Given the description of an element on the screen output the (x, y) to click on. 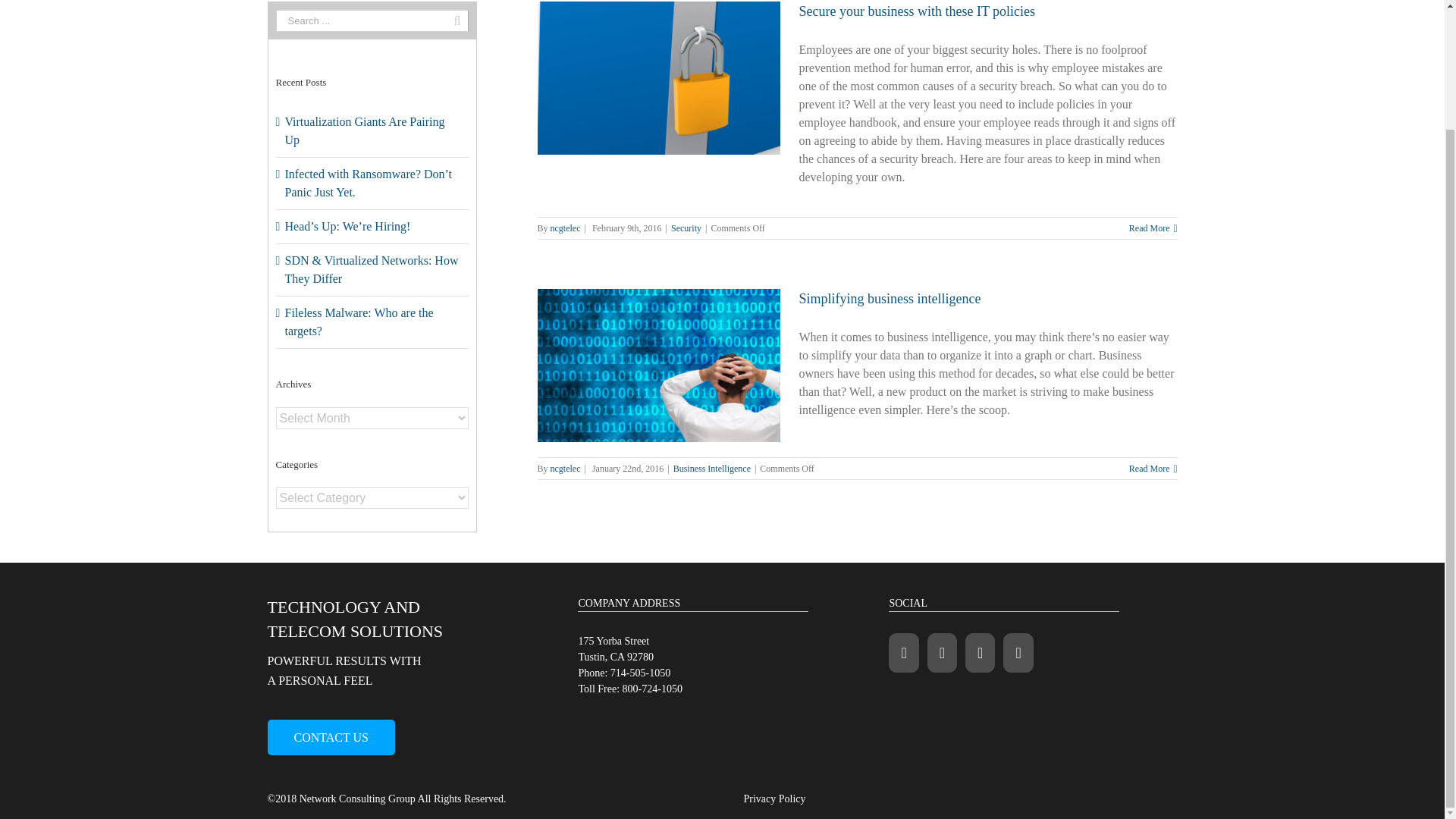
Security (686, 227)
Posts by ncgtelec (565, 468)
ncgtelec (565, 227)
Posts by ncgtelec (565, 227)
Secure your business with these IT policies (917, 11)
Read More (1149, 228)
